Given the description of an element on the screen output the (x, y) to click on. 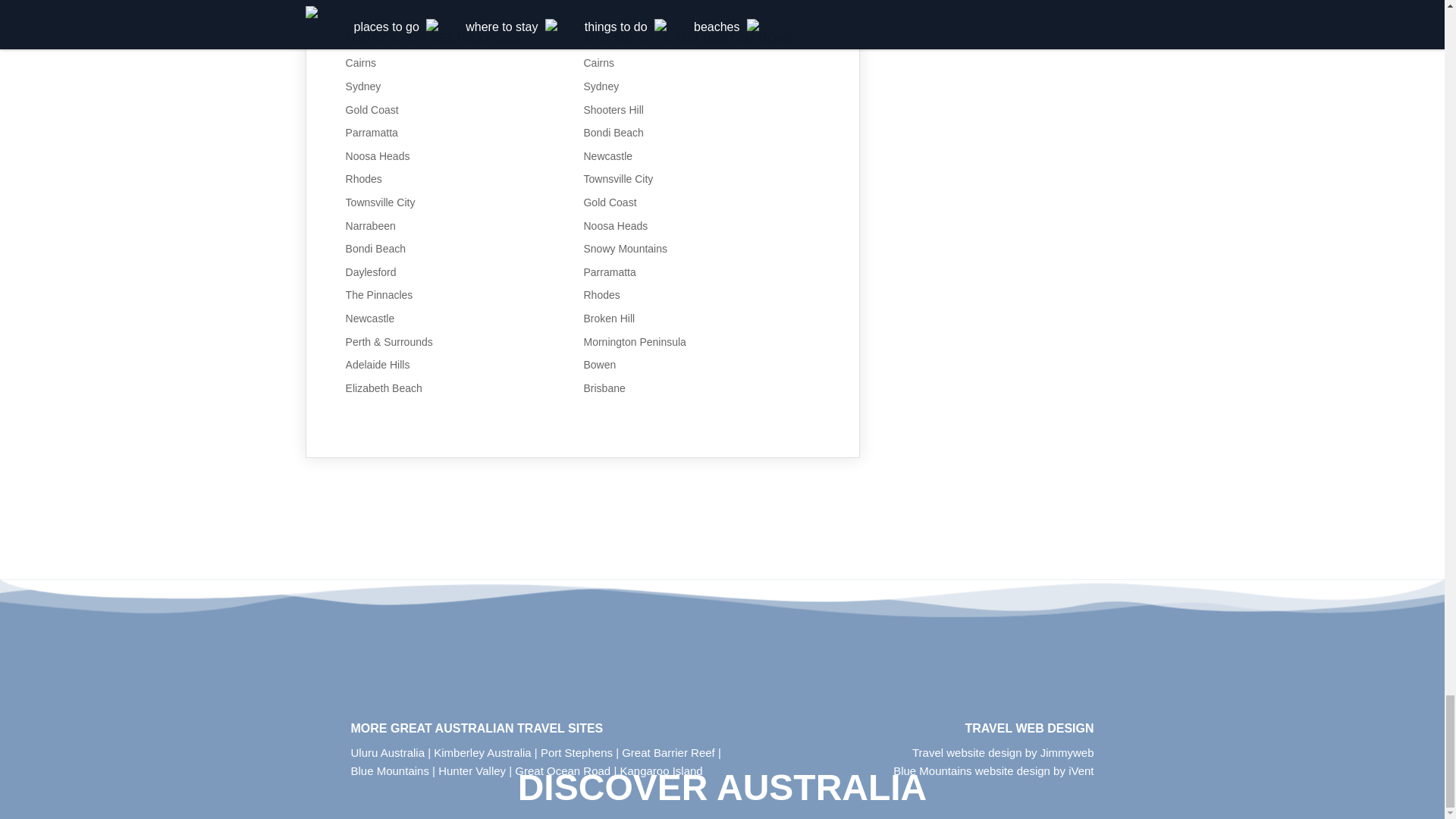
Bondi Beach (376, 248)
Rhodes (363, 178)
Gold Coast (372, 110)
Sydney (363, 86)
Narrabeen (371, 225)
Parramatta (371, 132)
Townsville City (380, 202)
Cairns (360, 62)
Noosa Heads (378, 155)
